Given the description of an element on the screen output the (x, y) to click on. 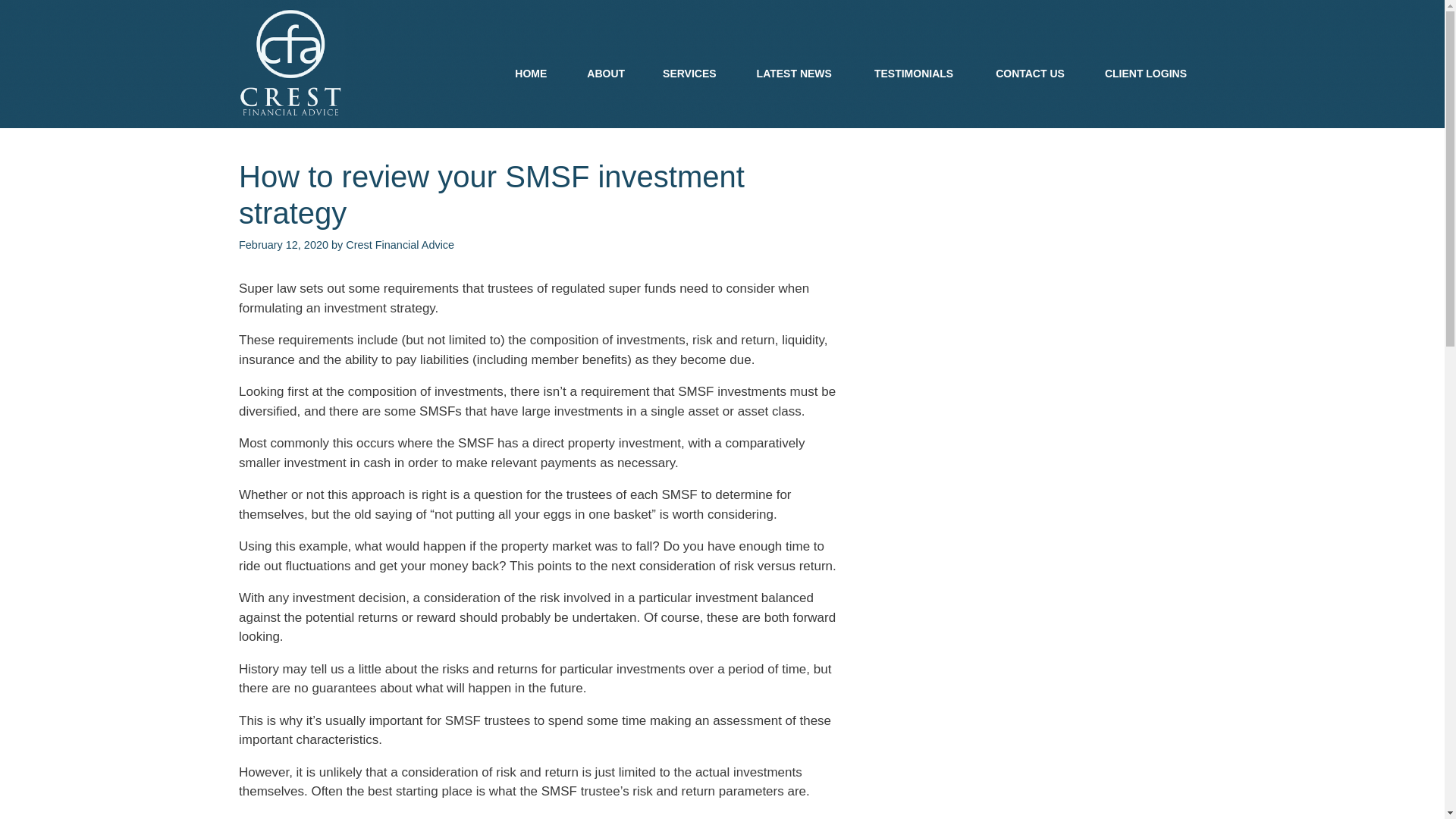
Crest Financial Advice Element type: text (399, 244)
TESTIMONIALS Element type: text (913, 73)
SERVICES Element type: text (689, 73)
CLIENT LOGINS Element type: text (1145, 73)
LATEST NEWS Element type: text (794, 73)
CONTACT US Element type: text (1029, 73)
ABOUT Element type: text (605, 73)
HOME Element type: text (530, 73)
